Given the description of an element on the screen output the (x, y) to click on. 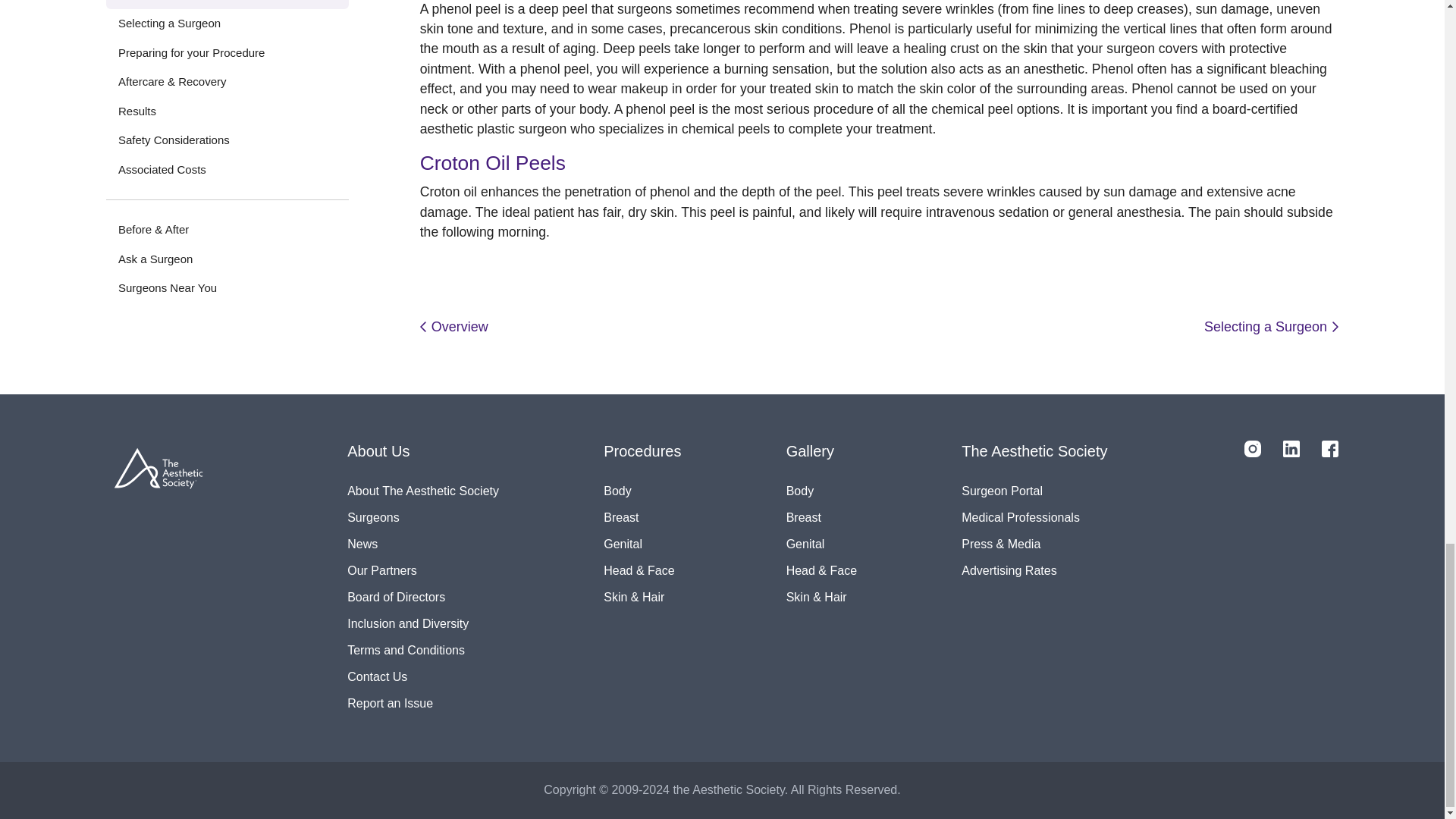
Board of Directors (423, 596)
Genital (821, 542)
Genital (642, 542)
About The Aesthetic Society (423, 489)
Our Partners (423, 570)
Contact Us (423, 676)
Medical Professionals (1033, 517)
The Aesthetic Society Inclusion and Diversity Statement (423, 623)
